Given the description of an element on the screen output the (x, y) to click on. 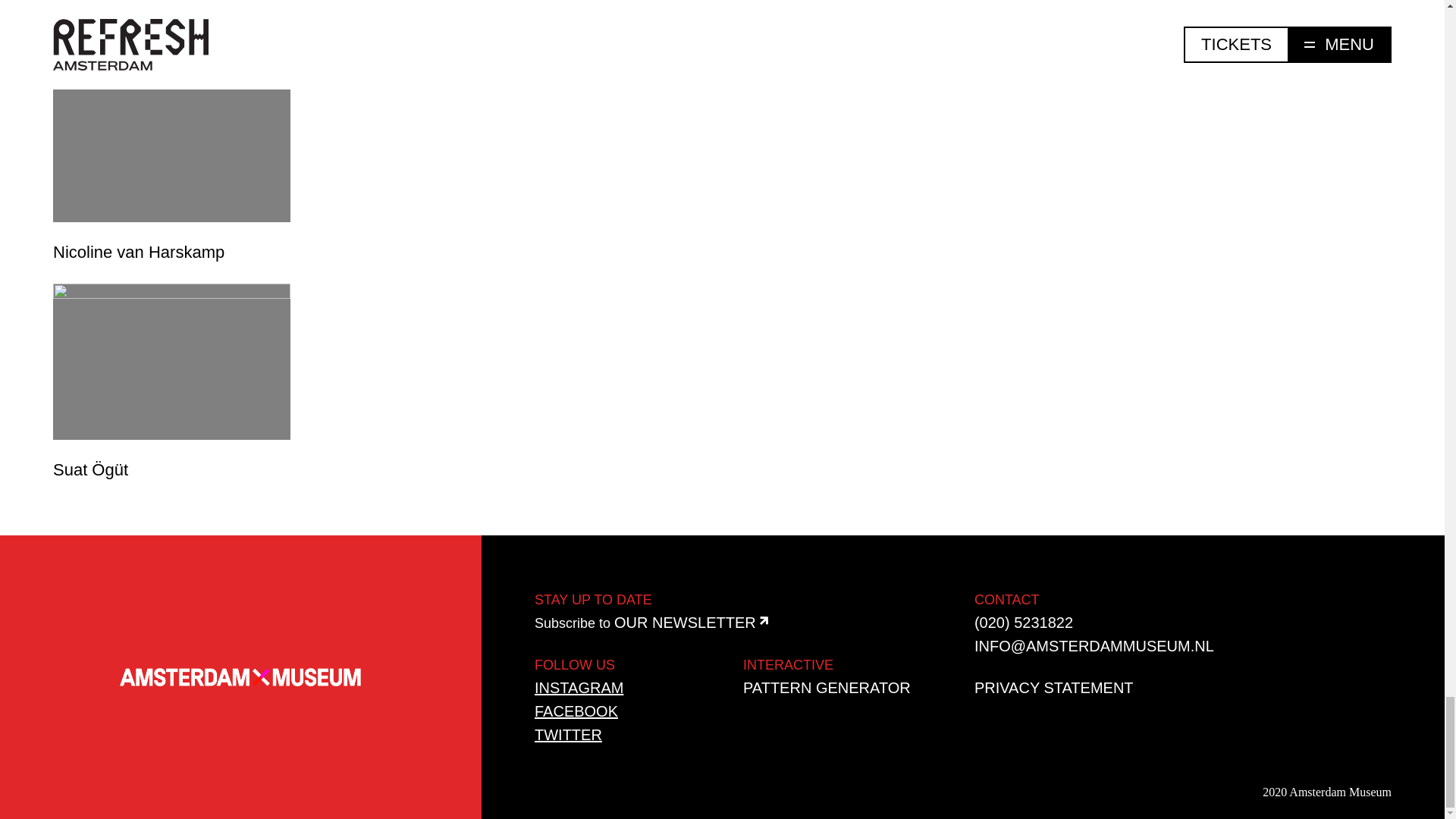
Nicoline van Harskamp (170, 164)
We Sell Reality (170, 22)
PRIVACY STATEMENT (1054, 687)
PATTERN GENERATOR (826, 687)
FACEBOOK (575, 710)
INSTAGRAM (578, 687)
TWITTER (568, 734)
